Given the description of an element on the screen output the (x, y) to click on. 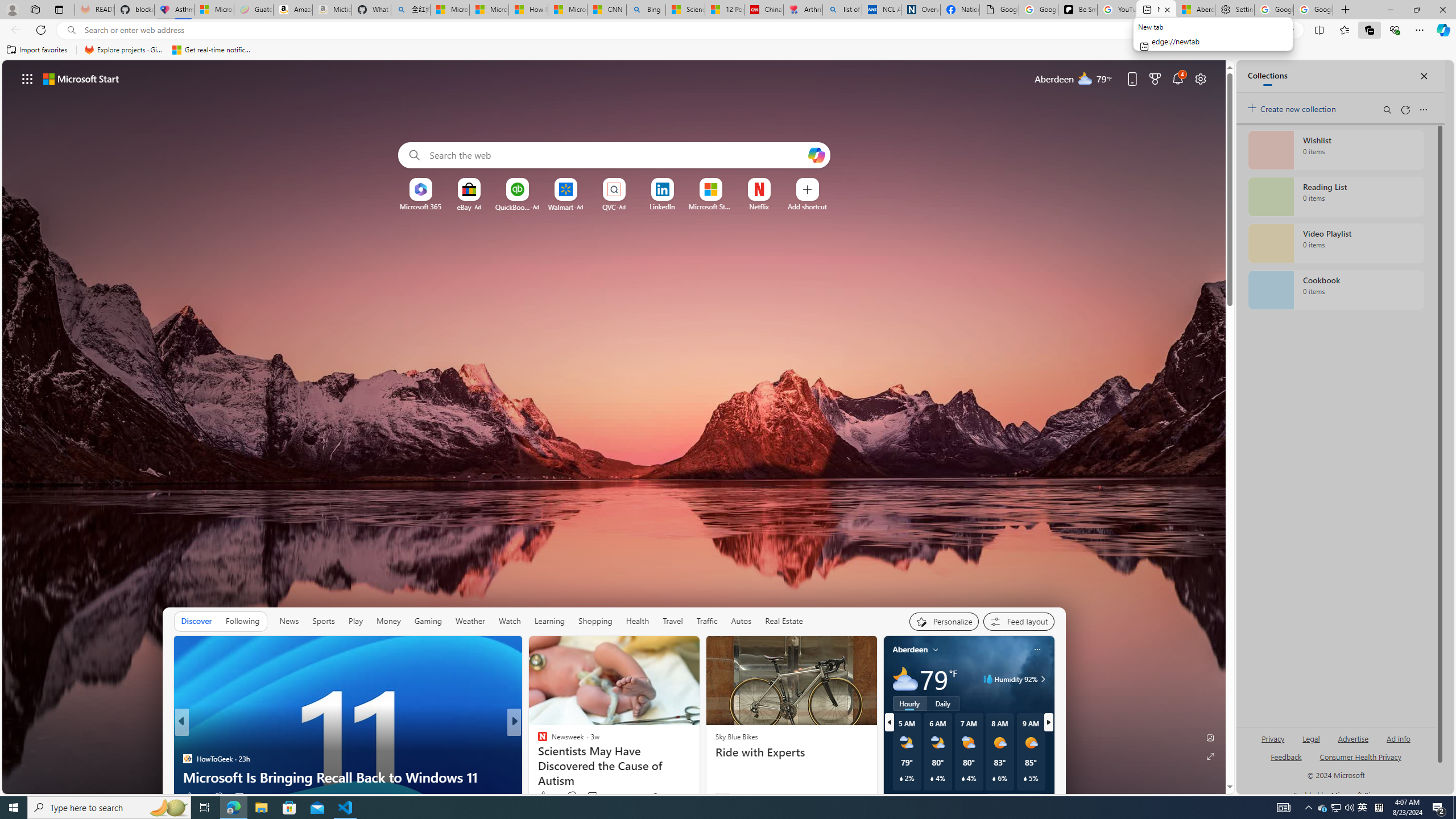
MovieMaker (537, 740)
AutomationID: backgroundImagePicture (613, 426)
Mostly cloudy (904, 678)
Ride with Experts (790, 752)
Page settings (1200, 78)
297 Like (545, 796)
